Given the description of an element on the screen output the (x, y) to click on. 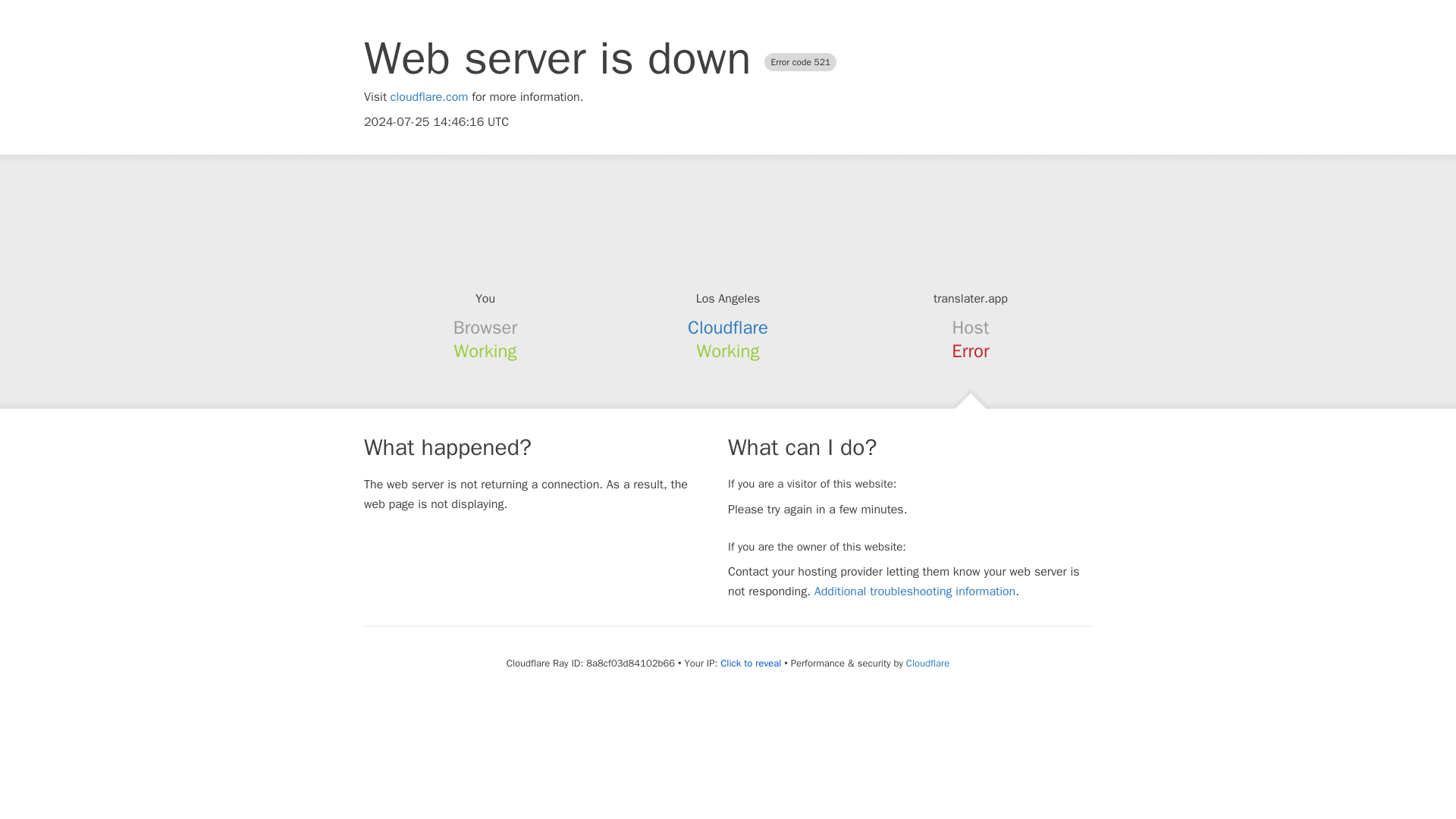
Cloudflare (727, 327)
Click to reveal (750, 663)
cloudflare.com (429, 96)
Cloudflare (927, 662)
Additional troubleshooting information (913, 590)
